Given the description of an element on the screen output the (x, y) to click on. 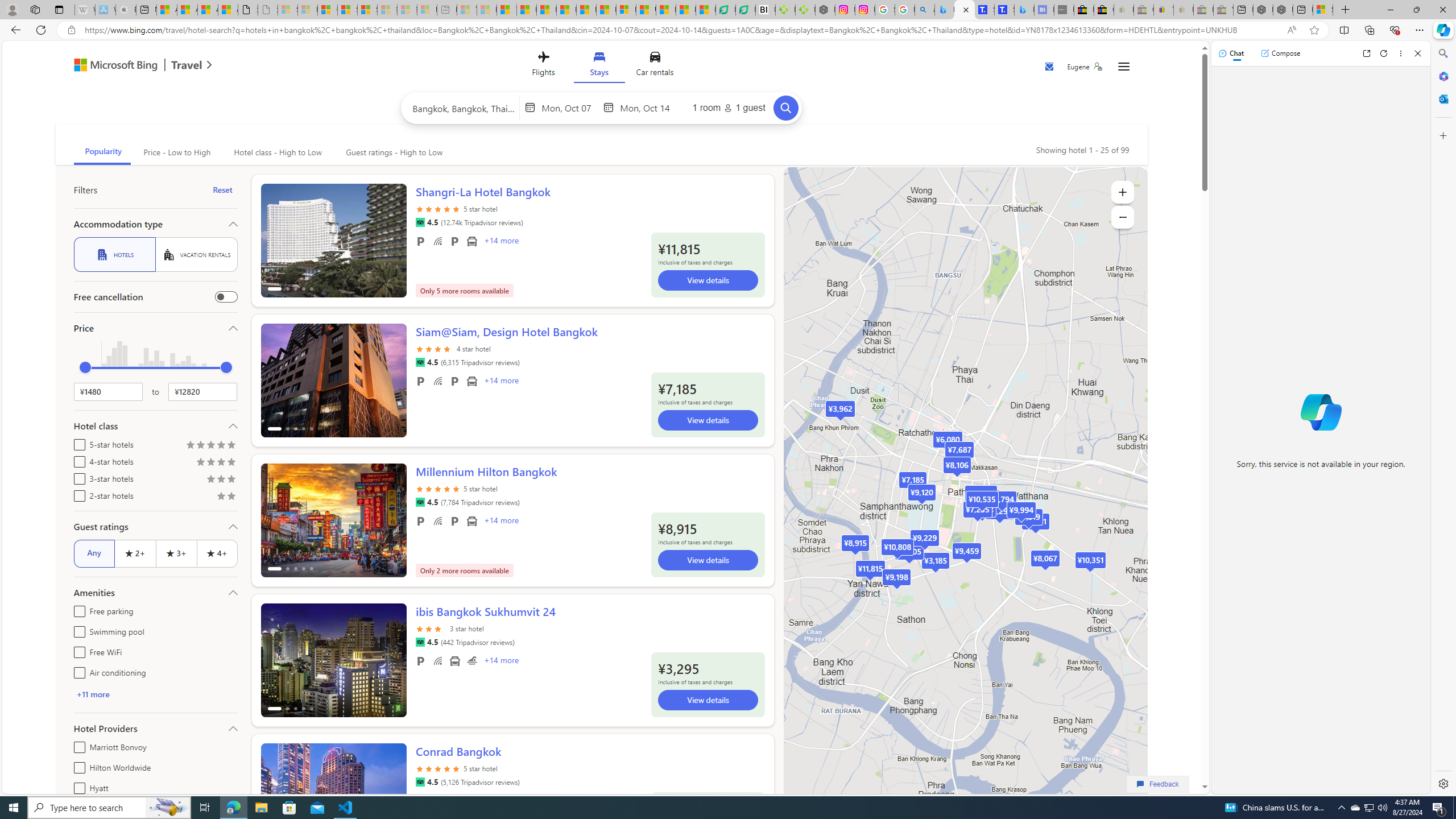
Wikipedia - Sleeping (84, 9)
Nvidia va a poner a prueba la paciencia de los inversores (765, 9)
min  (84, 367)
Free parking (420, 660)
Sign in to your Microsoft account - Sleeping (287, 9)
Foo BAR | Trusted Community Engagement and Contributions (606, 9)
Popularity (101, 152)
Address and search bar (680, 29)
End date (647, 107)
Free WiFi (437, 660)
Microsoft account | Account Checkup - Sleeping (427, 9)
